Given the description of an element on the screen output the (x, y) to click on. 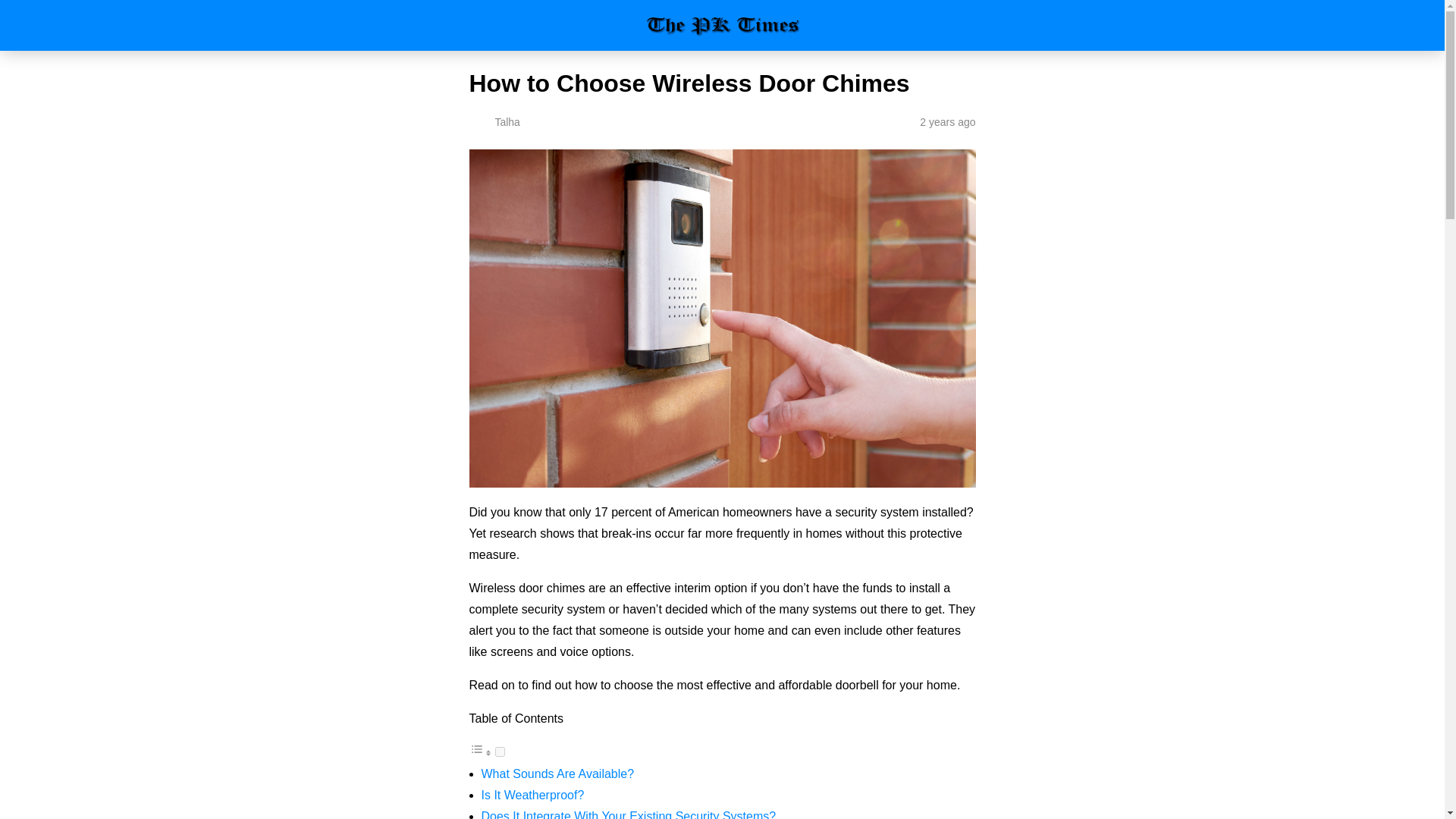
Does It Integrate With Your Existing Security Systems? (628, 814)
What Sounds Are Available? (556, 773)
Is It Weatherproof? (531, 794)
What Sounds Are Available? (556, 773)
Is It Weatherproof? (531, 794)
on (499, 751)
The PK Times (721, 25)
Does It Integrate With Your Existing Security Systems? (628, 814)
